Given the description of an element on the screen output the (x, y) to click on. 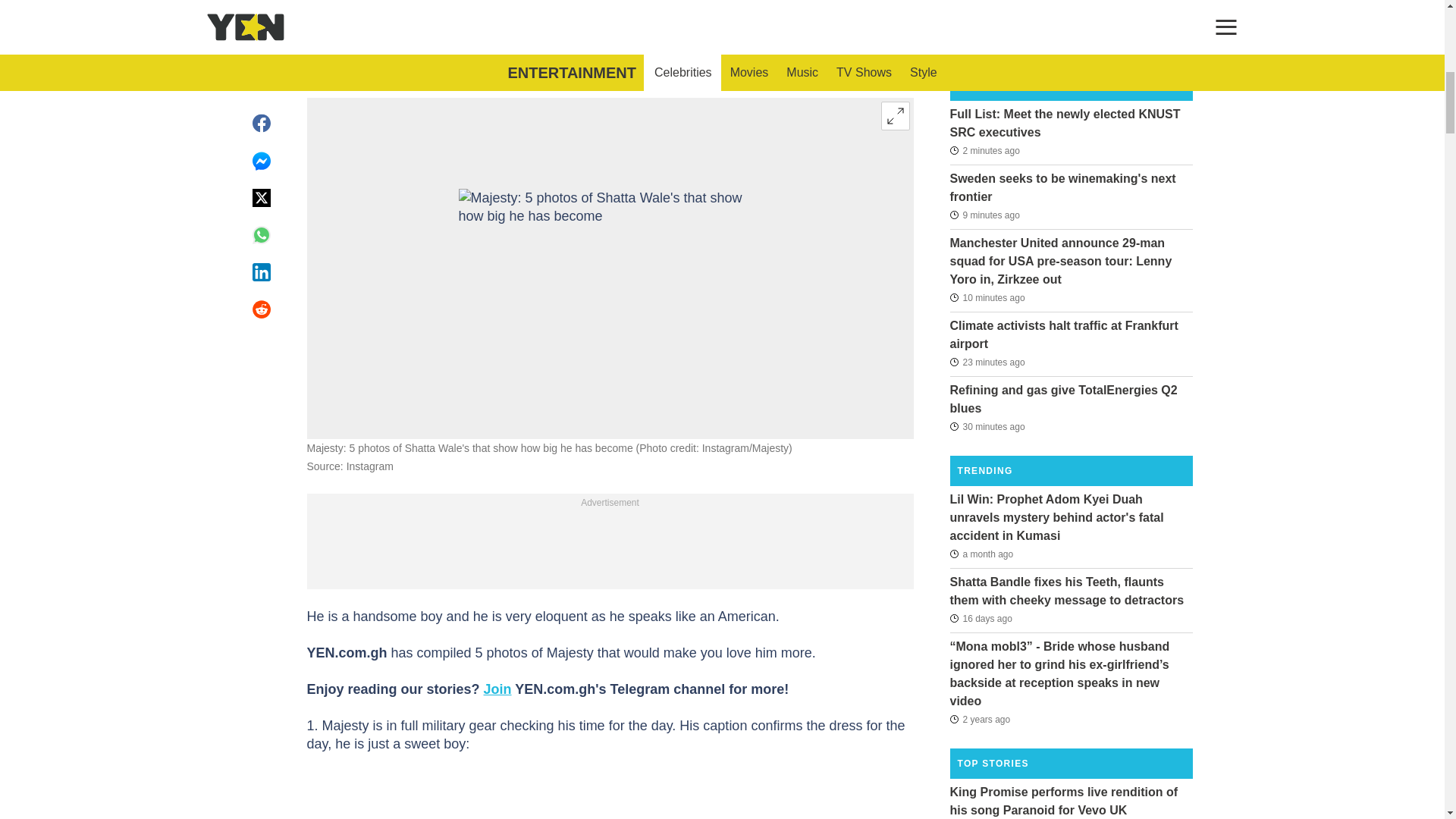
2024-07-25T08:04:03Z (987, 361)
2024-07-25T08:25:14Z (984, 149)
2024-07-25T07:57:04Z (987, 425)
2024-07-25T08:17:08Z (987, 297)
2024-05-29T09:11:12Z (981, 553)
2024-07-09T07:18:18Z (980, 618)
2021-10-19T20:21:29Z (979, 719)
2024-07-25T08:18:04Z (984, 215)
Expand image (895, 115)
